Given the description of an element on the screen output the (x, y) to click on. 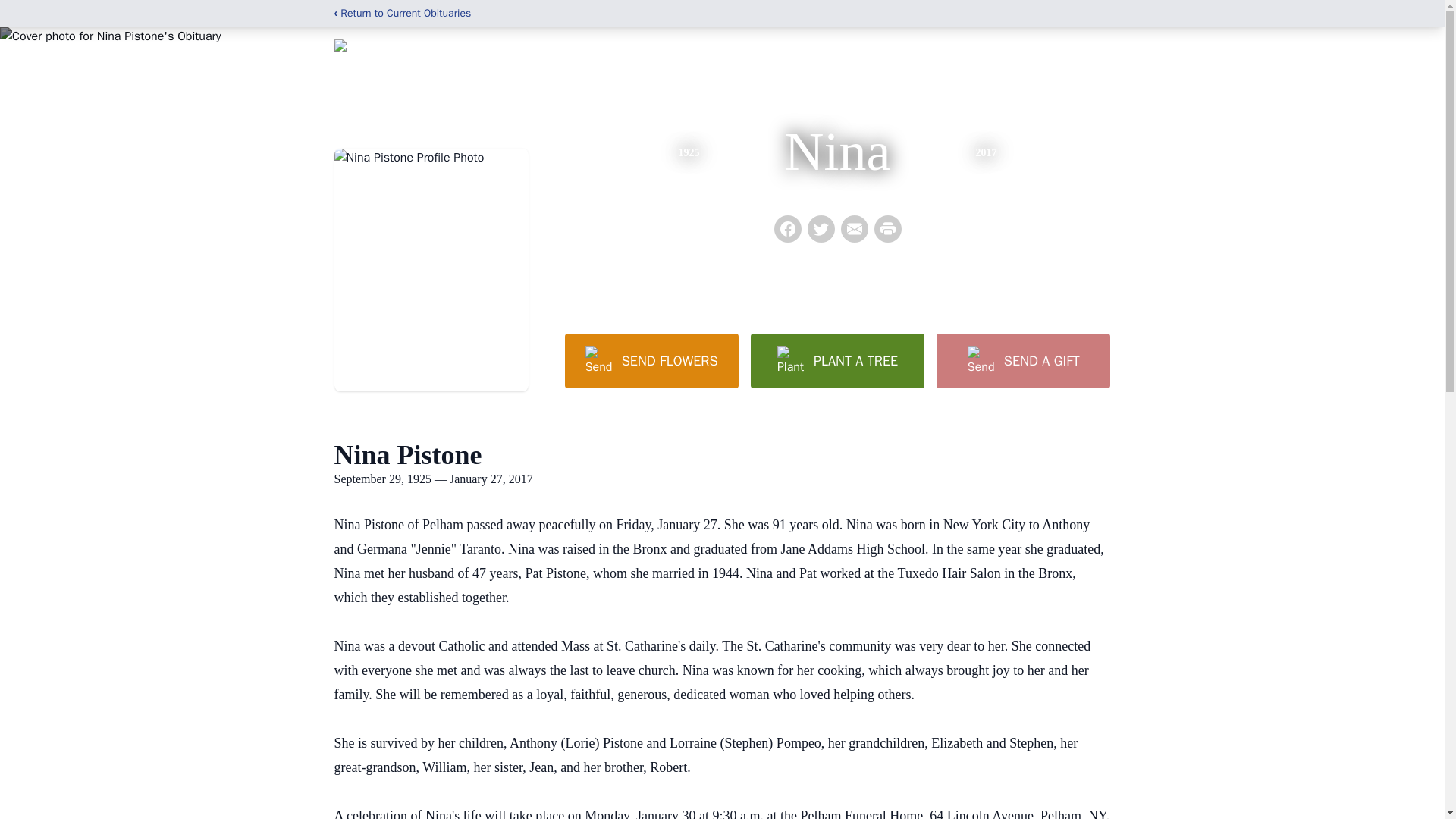
PLANT A TREE (837, 360)
SEND A GIFT (1022, 360)
SEND FLOWERS (651, 360)
